Given the description of an element on the screen output the (x, y) to click on. 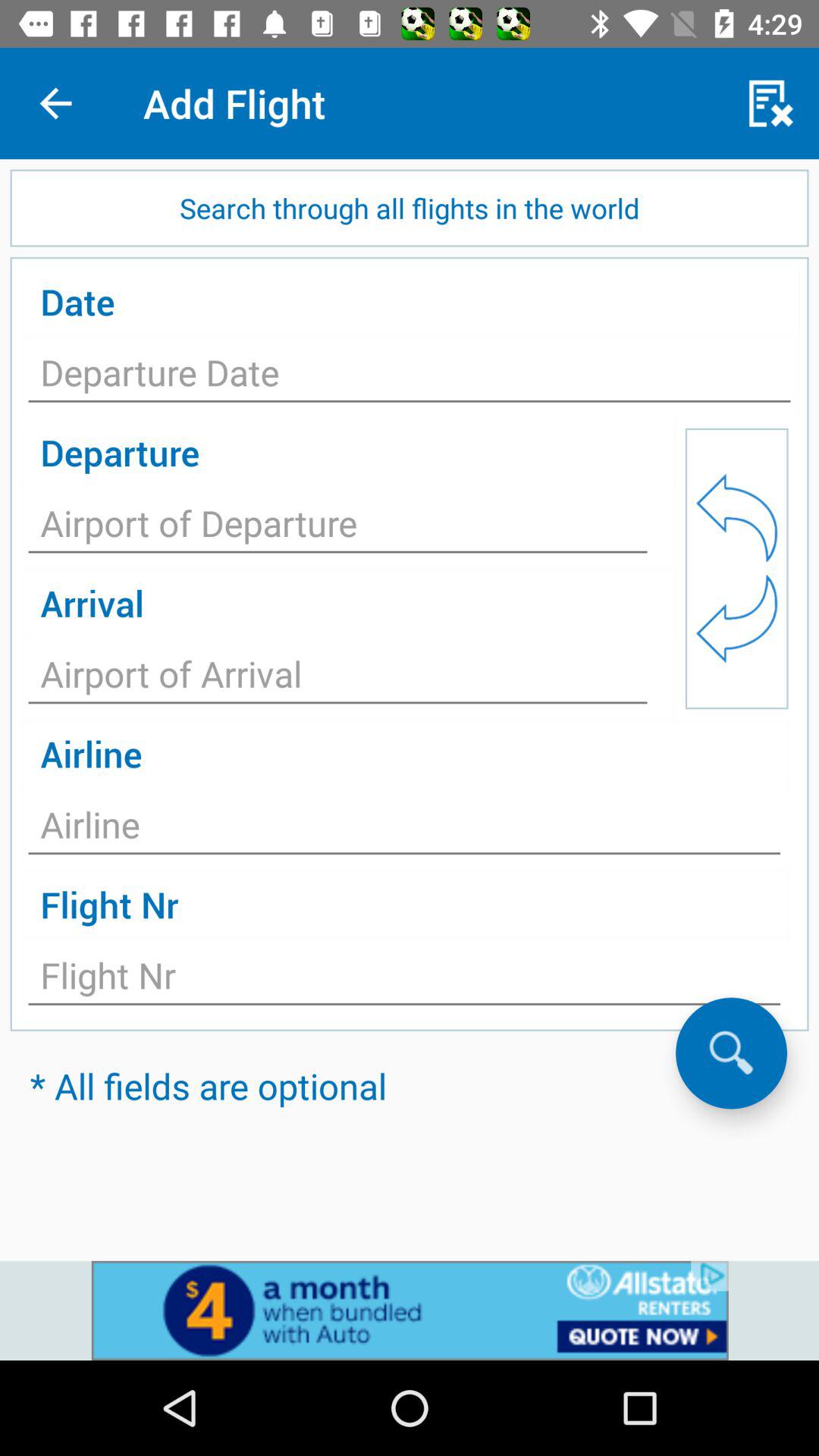
typing page (337, 678)
